Given the description of an element on the screen output the (x, y) to click on. 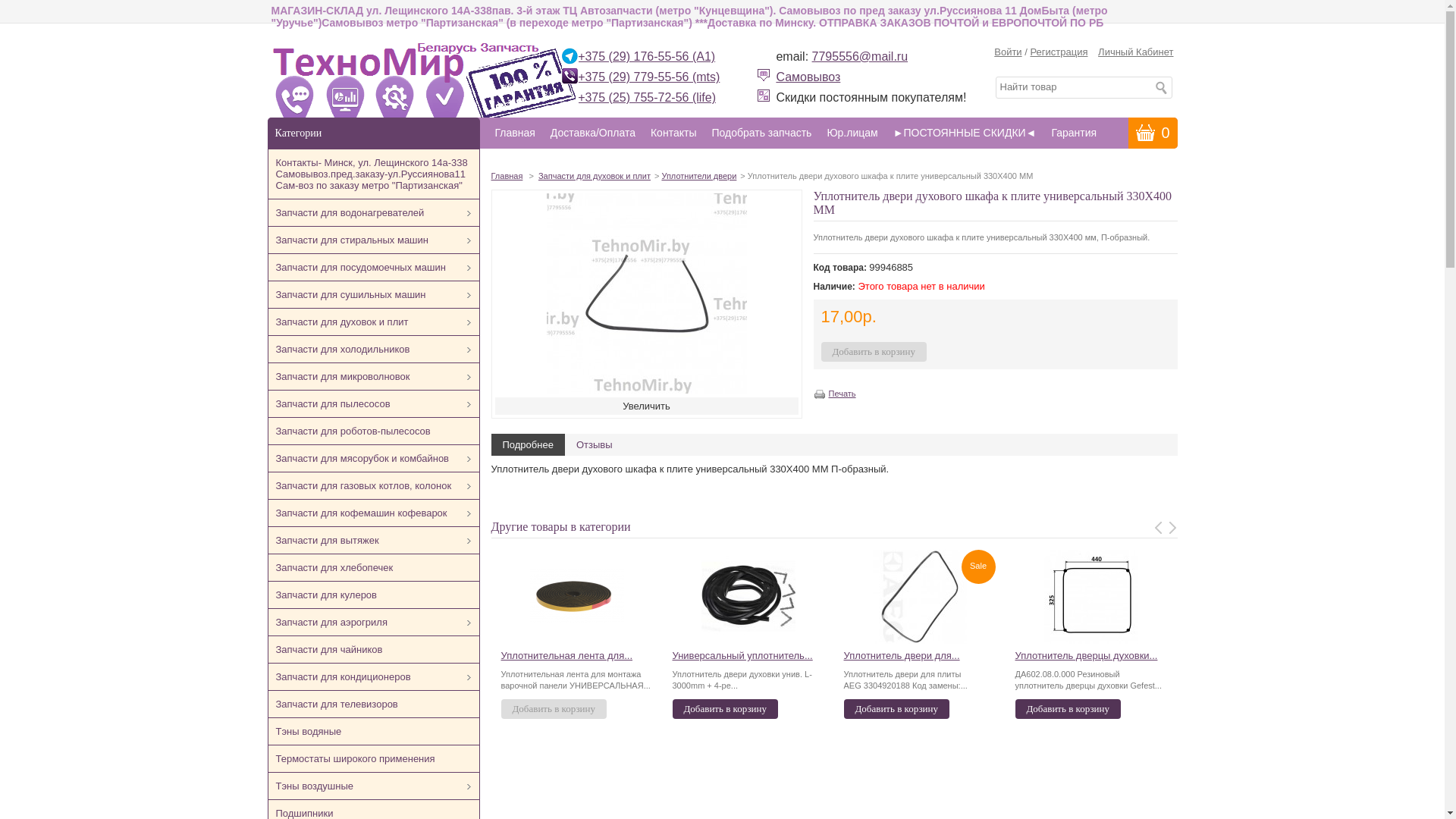
tehnomir.by Element type: hover (424, 88)
0 Element type: text (1152, 132)
+375 (29) 779-55-56 (mts) Element type: text (648, 76)
+375 (25) 755-72-56 (life) Element type: text (646, 97)
+375 (29) 176-55-56 (A1) Element type: text (646, 56)
7795556@mail.ru Element type: text (860, 56)
